Given the description of an element on the screen output the (x, y) to click on. 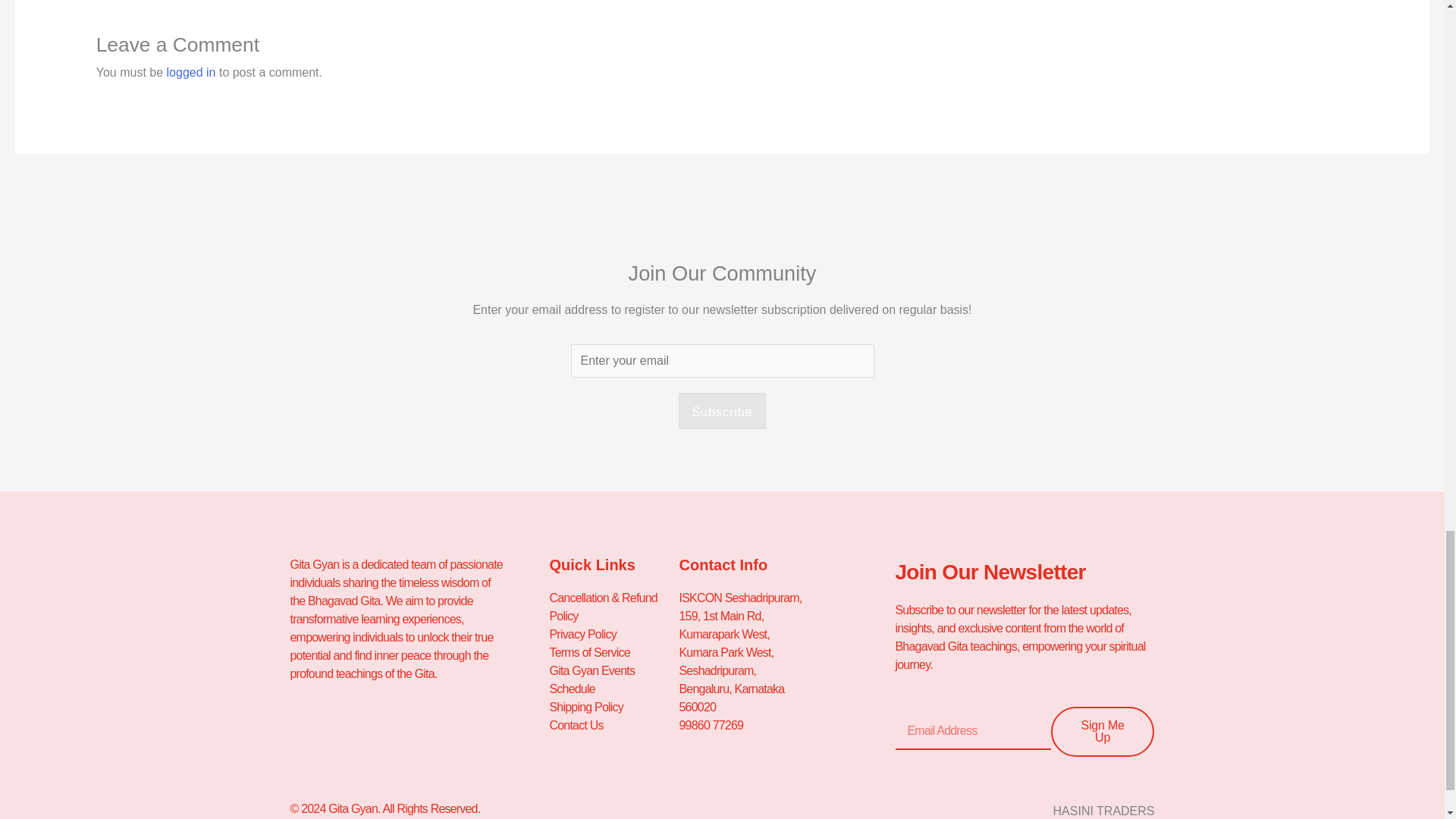
Subscribe (721, 411)
logged in (191, 72)
Privacy Policy (613, 634)
Shipping Policy (613, 707)
Terms of Service (613, 652)
Contact Us (613, 725)
Gita Gyan Events Schedule (613, 679)
Sign Me Up (1102, 731)
